Given the description of an element on the screen output the (x, y) to click on. 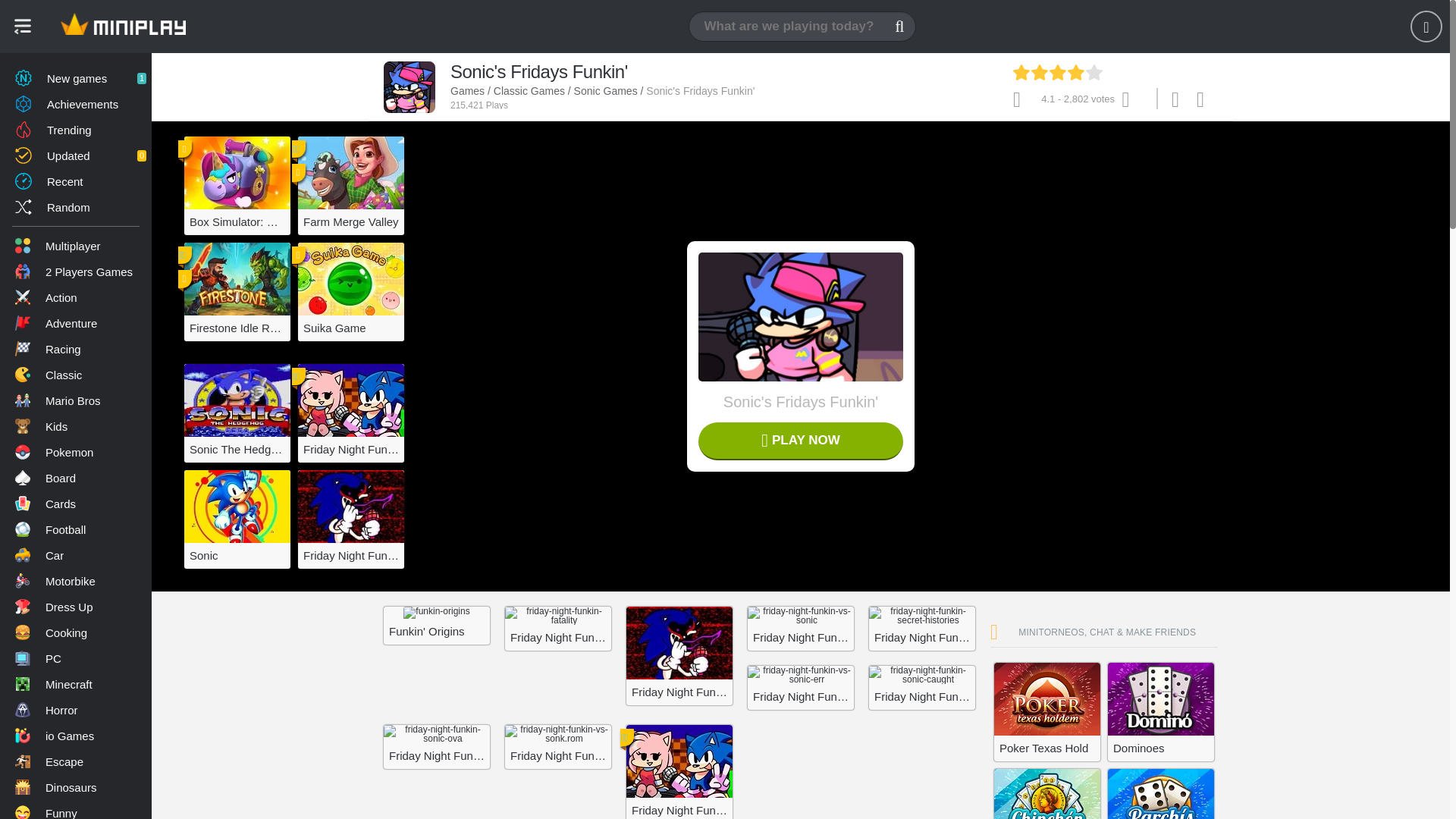
Card Games (75, 503)
Adventure (75, 322)
Racing Games (75, 77)
Funny (75, 348)
New games (75, 809)
Random (75, 77)
Multiplayer Games (75, 207)
Board (75, 245)
2 Players Games (75, 477)
